Given the description of an element on the screen output the (x, y) to click on. 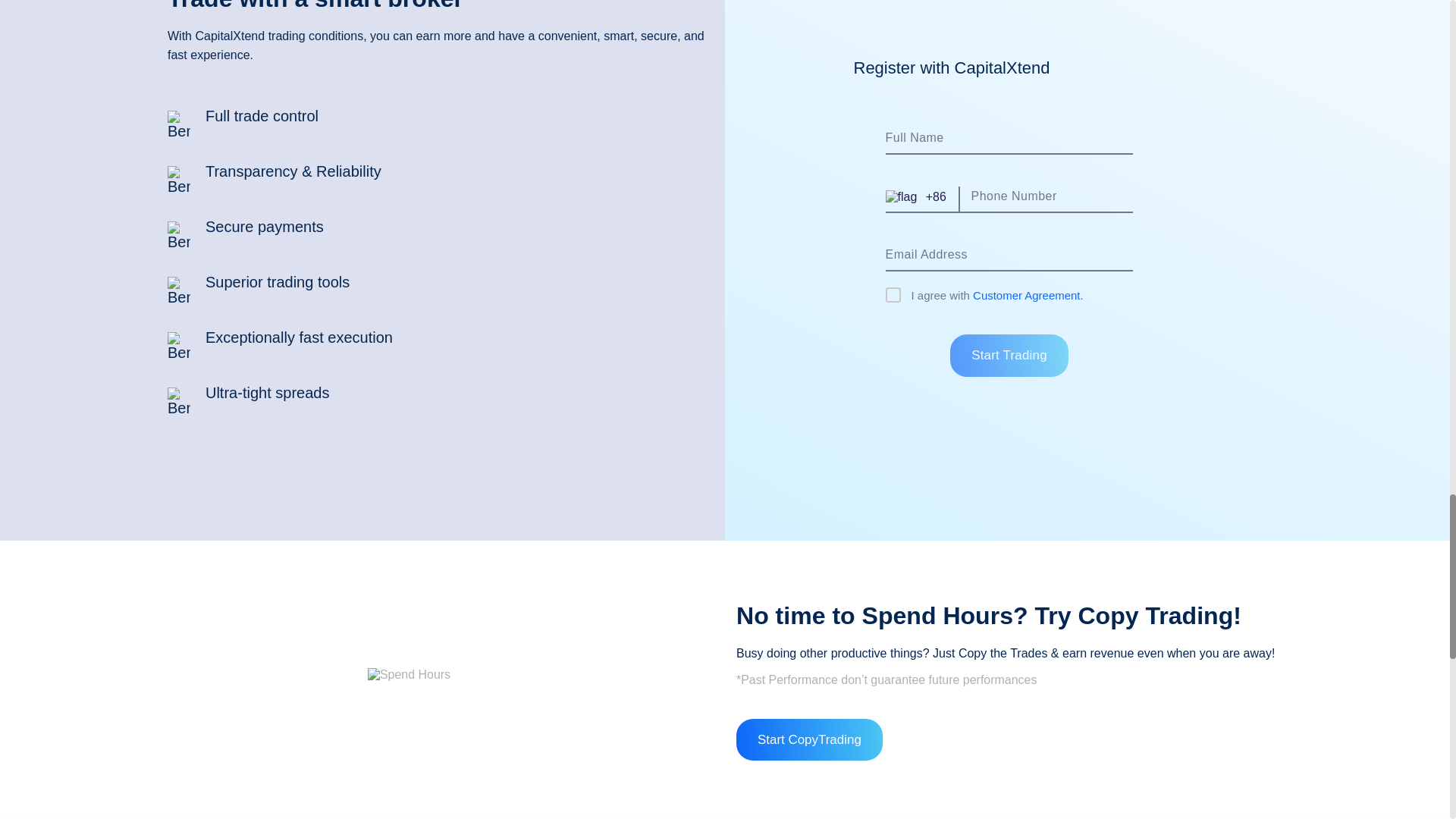
Start CopyTrading (809, 739)
